Given the description of an element on the screen output the (x, y) to click on. 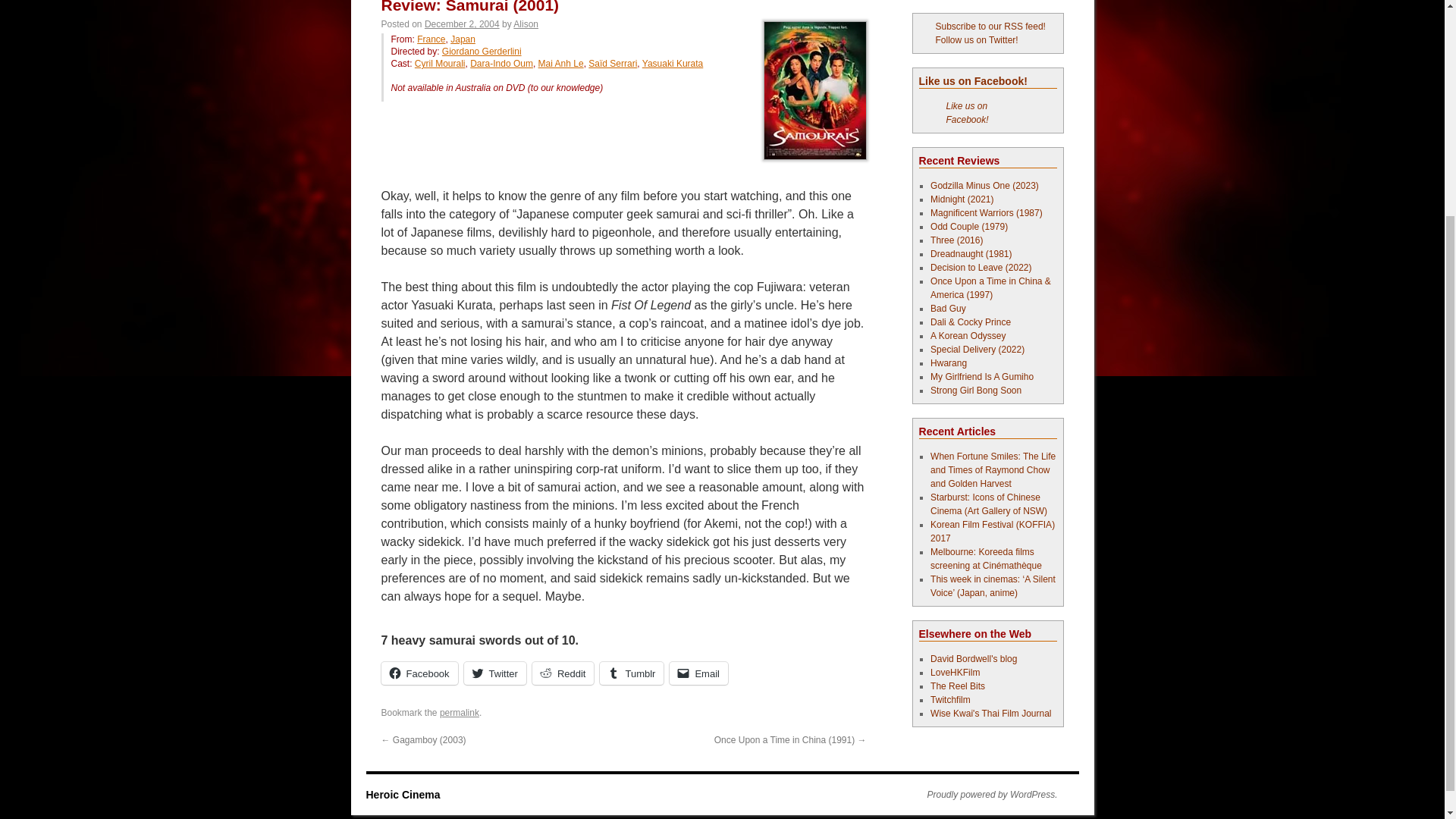
Follow us on Twitter! (968, 40)
Click to share on Twitter (494, 672)
Bad Guy (948, 308)
Click to email a link to a friend (698, 672)
Japan (462, 39)
View all posts by Alison (525, 23)
France (430, 39)
Click to share on Reddit (563, 672)
6:11 am (462, 23)
Facebook (418, 672)
Twitter (494, 672)
Like us on Facebook! (967, 112)
Tumblr (631, 672)
Giordano Gerderlini (481, 50)
Click to share on Tumblr (631, 672)
